Given the description of an element on the screen output the (x, y) to click on. 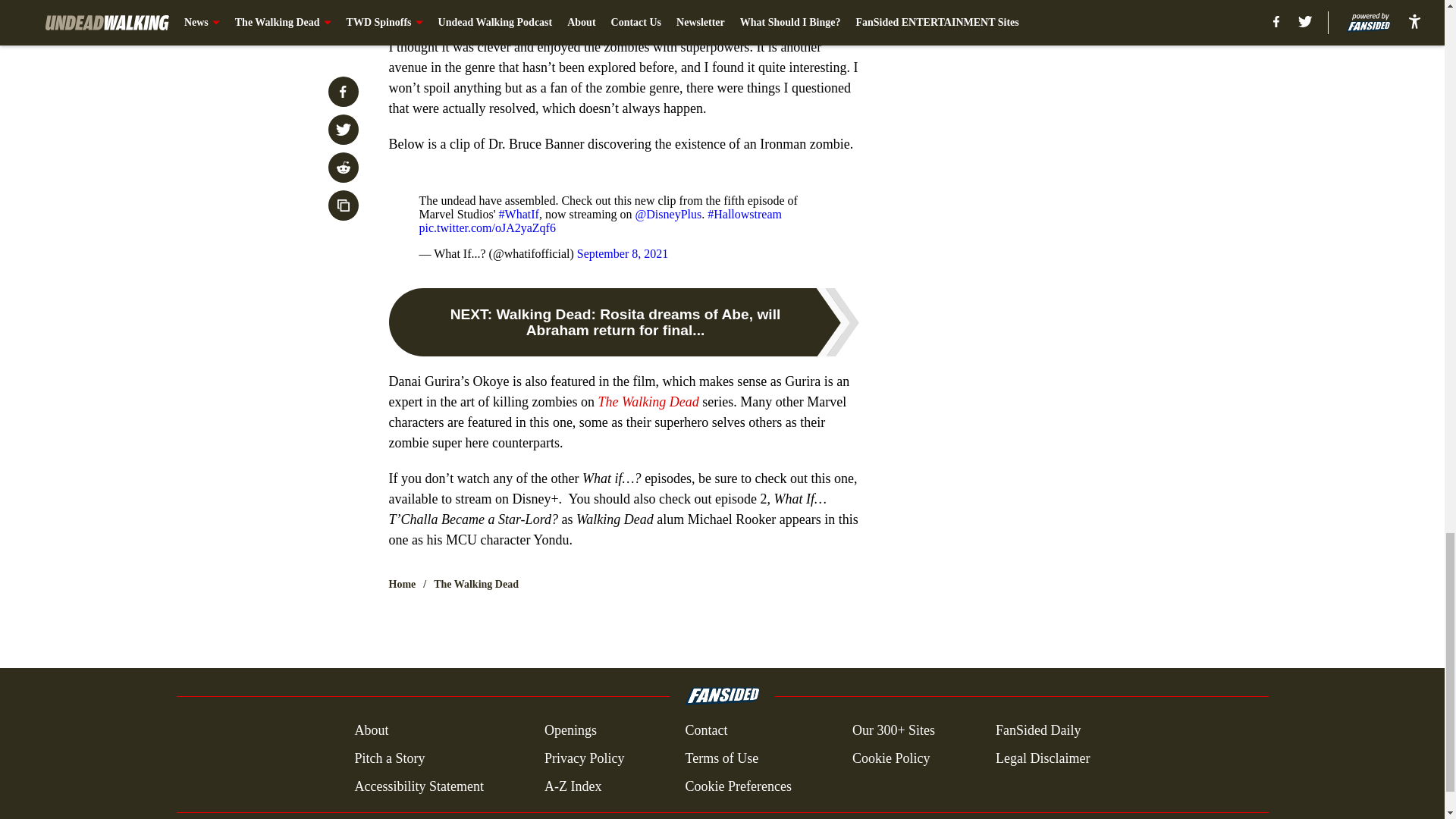
The Walking Dead (647, 401)
September 8, 2021 (622, 253)
Home (401, 584)
